Given the description of an element on the screen output the (x, y) to click on. 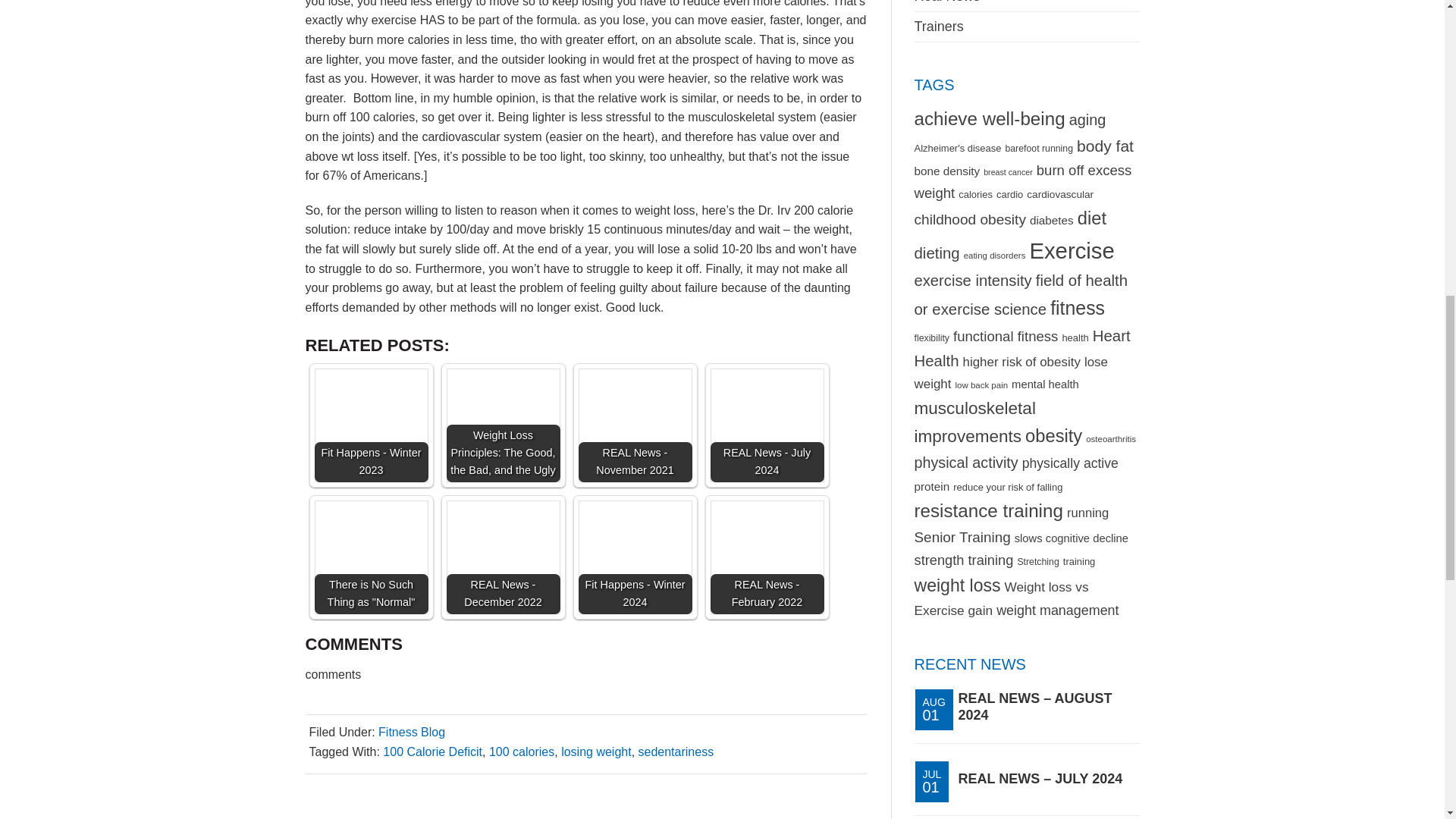
REAL News - December 2022 (502, 557)
Fit Happens - Winter 2023 (371, 425)
REAL News - February 2022 (767, 557)
REAL News - November 2021 (634, 425)
There is No Such Thing as "Normal" (371, 557)
REAL News - July 2024 (767, 425)
There is No Such Thing as "Normal" (371, 557)
Fit Happens - Winter 2024 (634, 557)
REAL News - July 2024 (767, 425)
REAL News - November 2021 (634, 425)
Weight Loss Principles: The Good, the Bad, and the Ugly (502, 425)
Fit Happens - Winter 2023 (371, 425)
Weight Loss Principles:  The Good, the Bad, and the Ugly (502, 425)
